Given the description of an element on the screen output the (x, y) to click on. 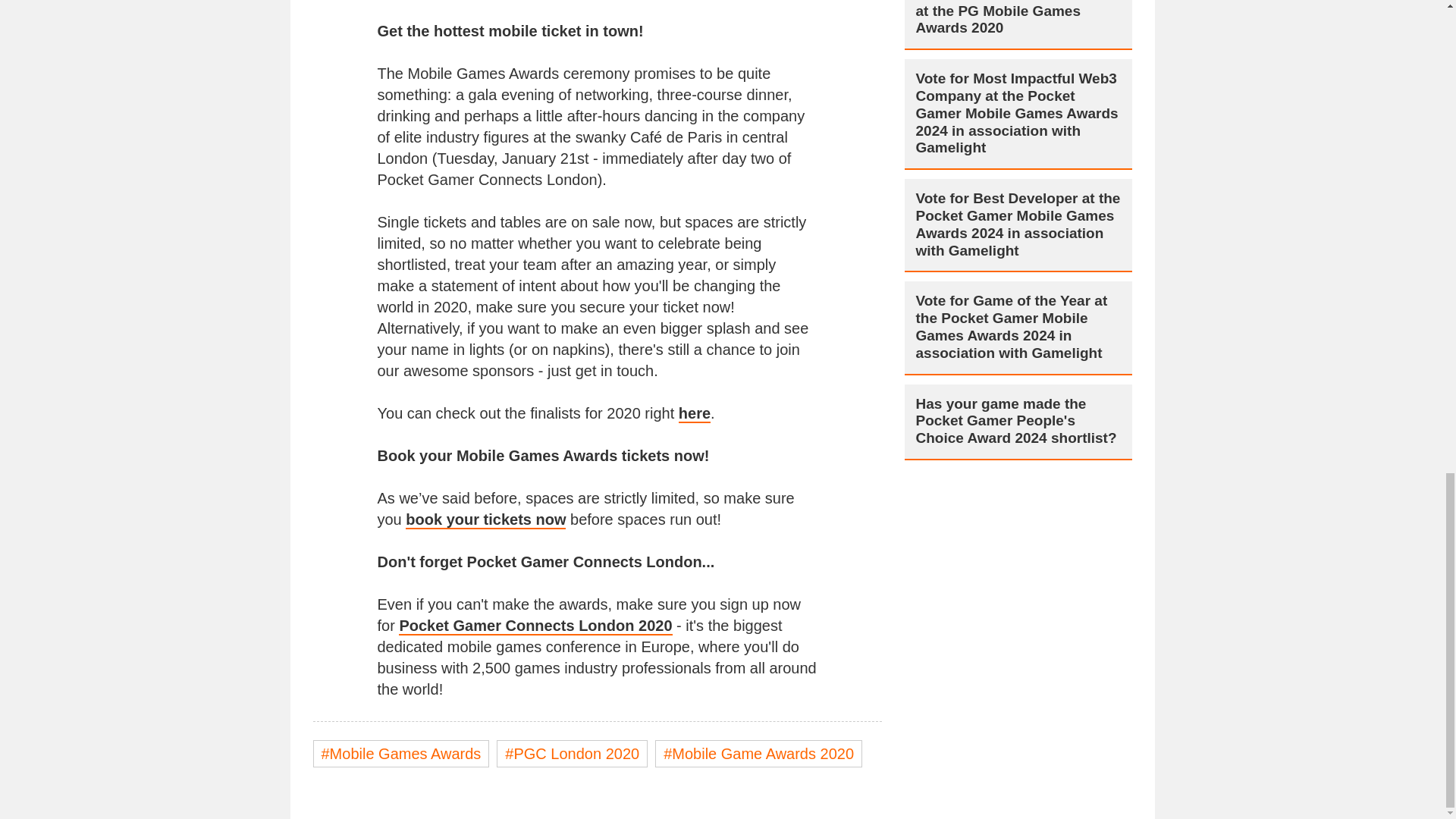
book your tickets now (486, 520)
here (694, 413)
Pocket Gamer Connects London 2020 (534, 626)
